Given the description of an element on the screen output the (x, y) to click on. 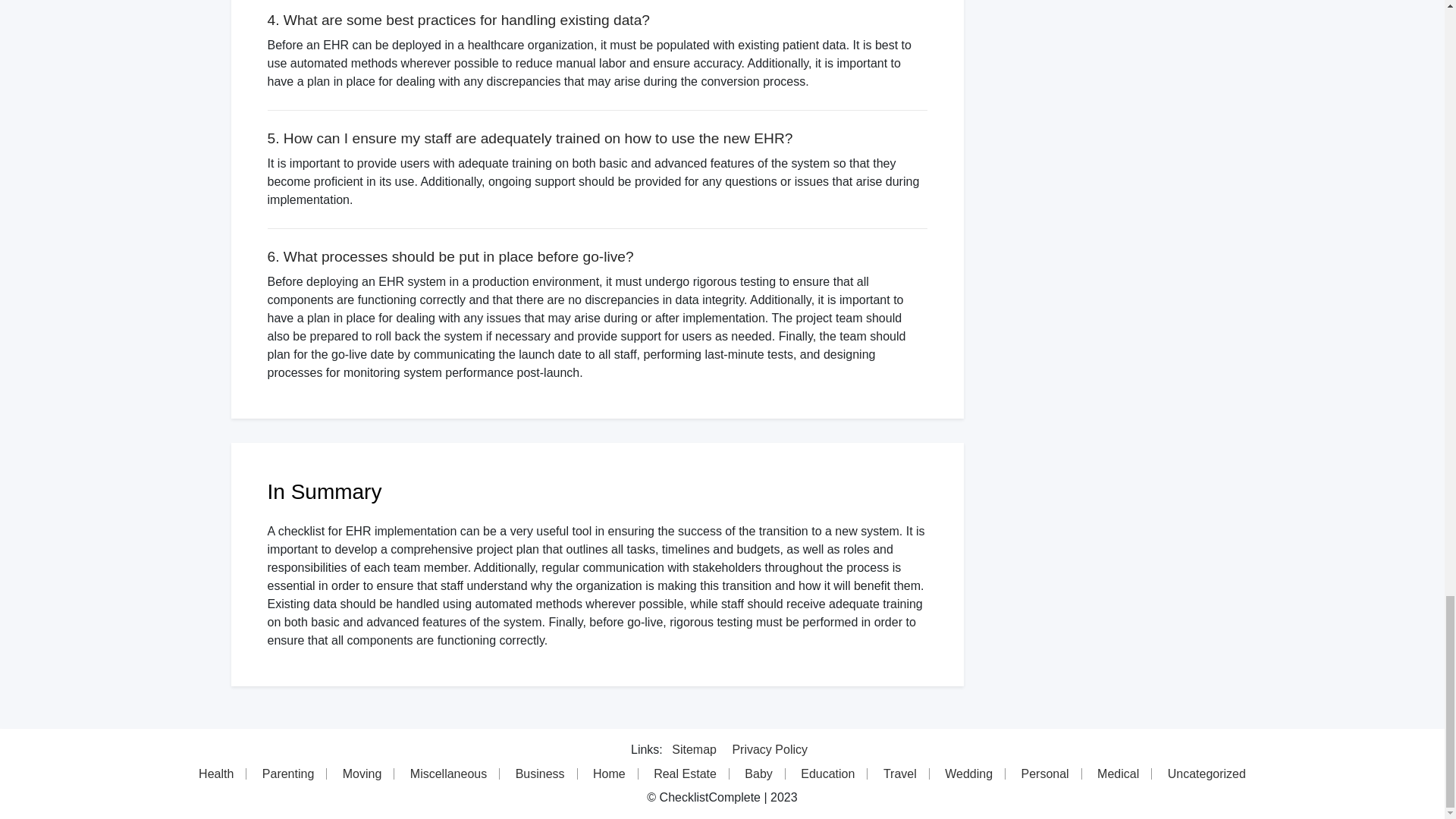
Real Estate (685, 773)
Business (540, 773)
Parenting (288, 773)
Uncategorized (1206, 773)
Personal (1045, 773)
Health (216, 773)
Privacy Policy (770, 748)
Travel (900, 773)
Sitemap (693, 748)
Miscellaneous (448, 773)
Baby (758, 773)
Medical (1117, 773)
Education (828, 773)
Home (609, 773)
Moving (362, 773)
